Given the description of an element on the screen output the (x, y) to click on. 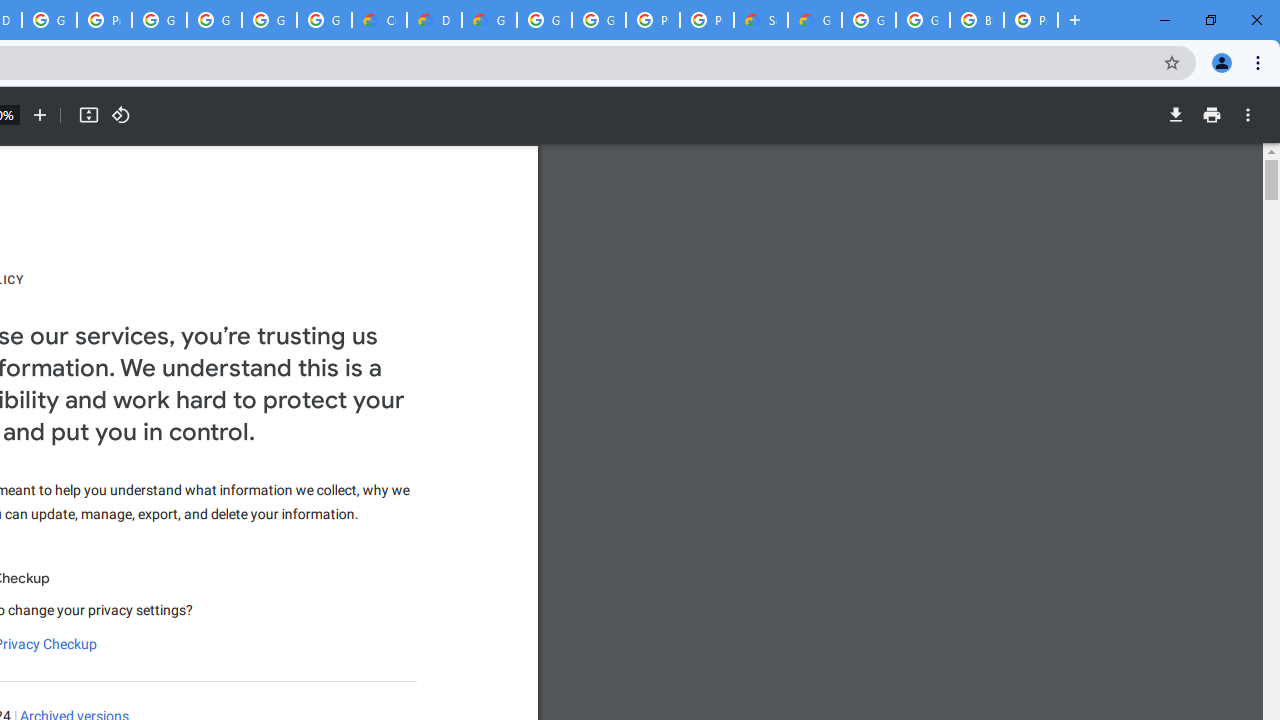
More actions (1247, 115)
Download (1175, 115)
Rotate counterclockwise (119, 115)
Print (1211, 115)
Fit to page (87, 115)
Customer Care | Google Cloud (379, 20)
Google Workspace - Specific Terms (268, 20)
Google Cloud Platform (922, 20)
